Given the description of an element on the screen output the (x, y) to click on. 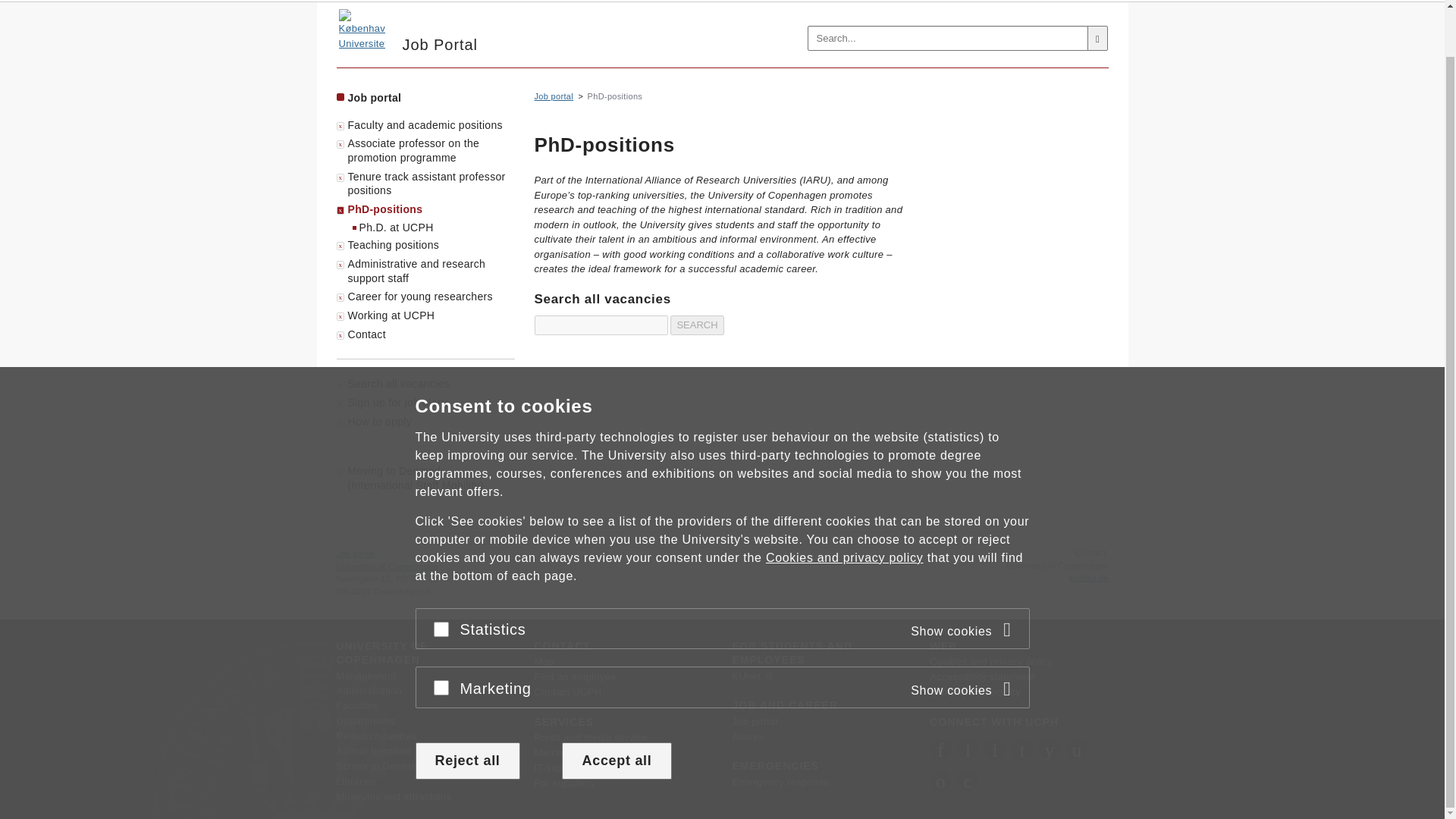
Job portal (360, 29)
